Given the description of an element on the screen output the (x, y) to click on. 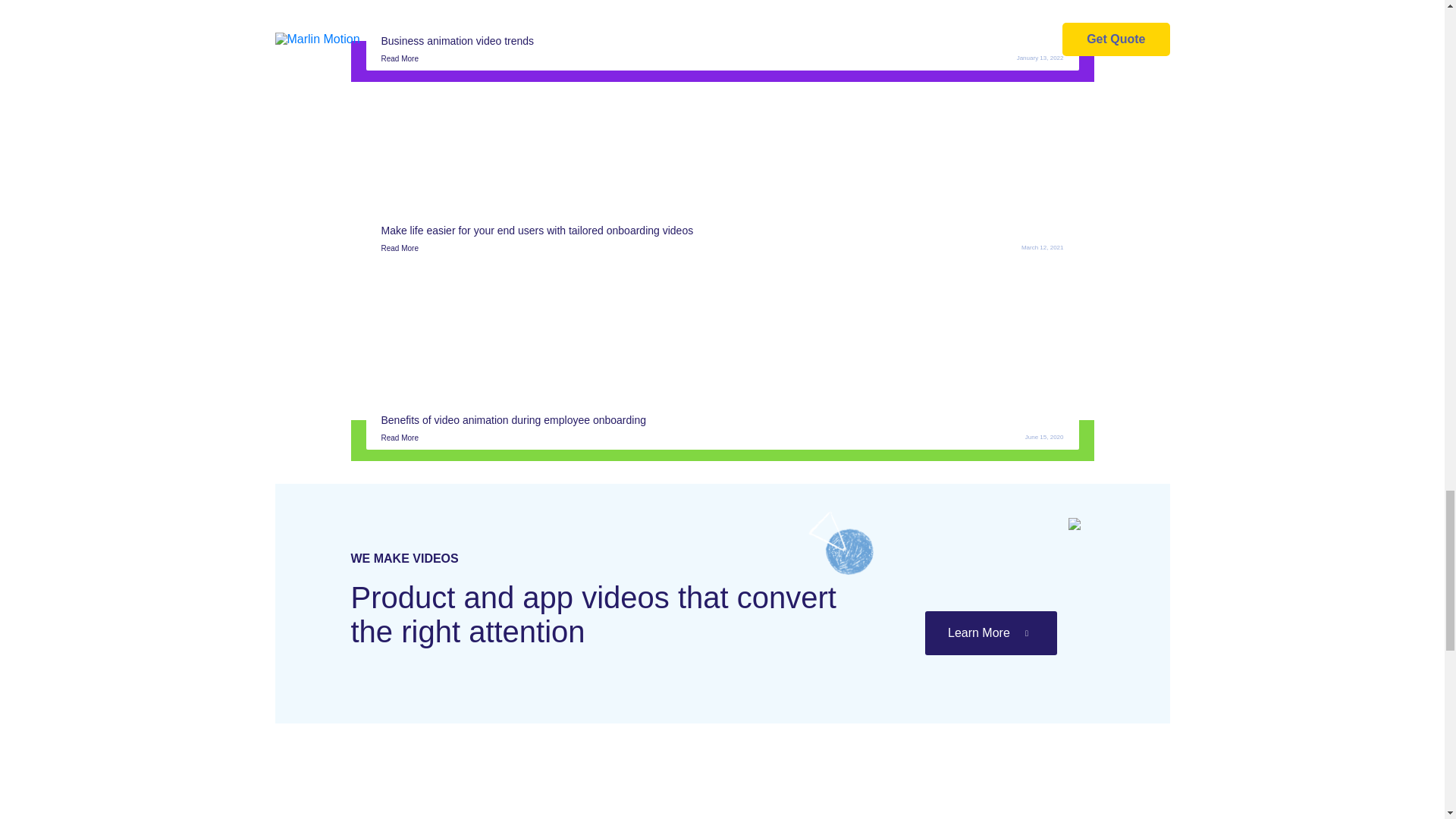
Read More (398, 248)
Learn More (990, 632)
Read More (398, 438)
Read More (398, 58)
Business animation video trends (457, 40)
Benefits of video animation during employee onboarding (512, 419)
